Given the description of an element on the screen output the (x, y) to click on. 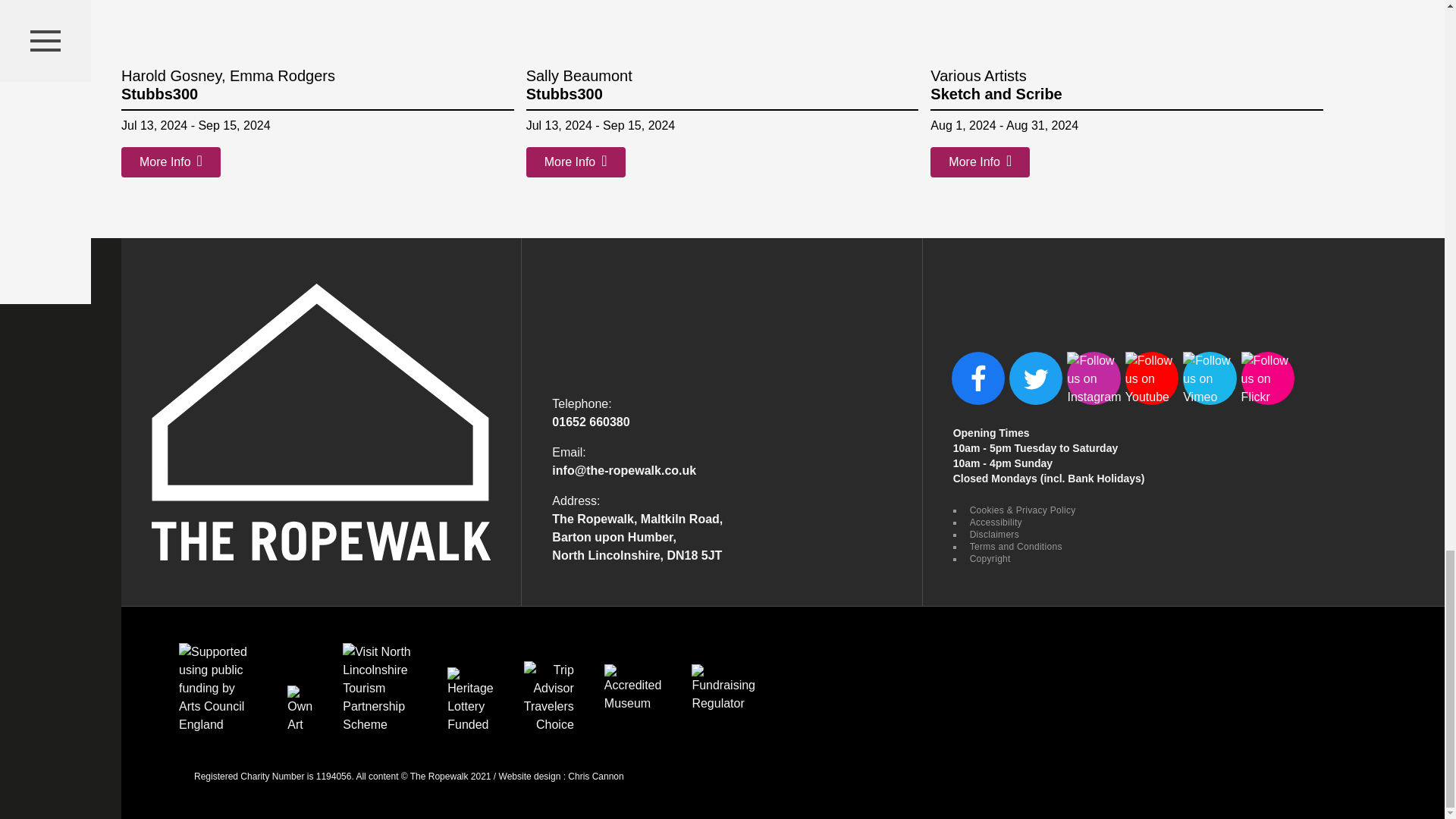
Disclaimers (992, 534)
Accessibility (994, 522)
Website design : Chris Cannon (561, 776)
Terms and Conditions (1014, 546)
Copyright (988, 558)
More Info (979, 162)
More Info (170, 162)
More Info (575, 162)
